Given the description of an element on the screen output the (x, y) to click on. 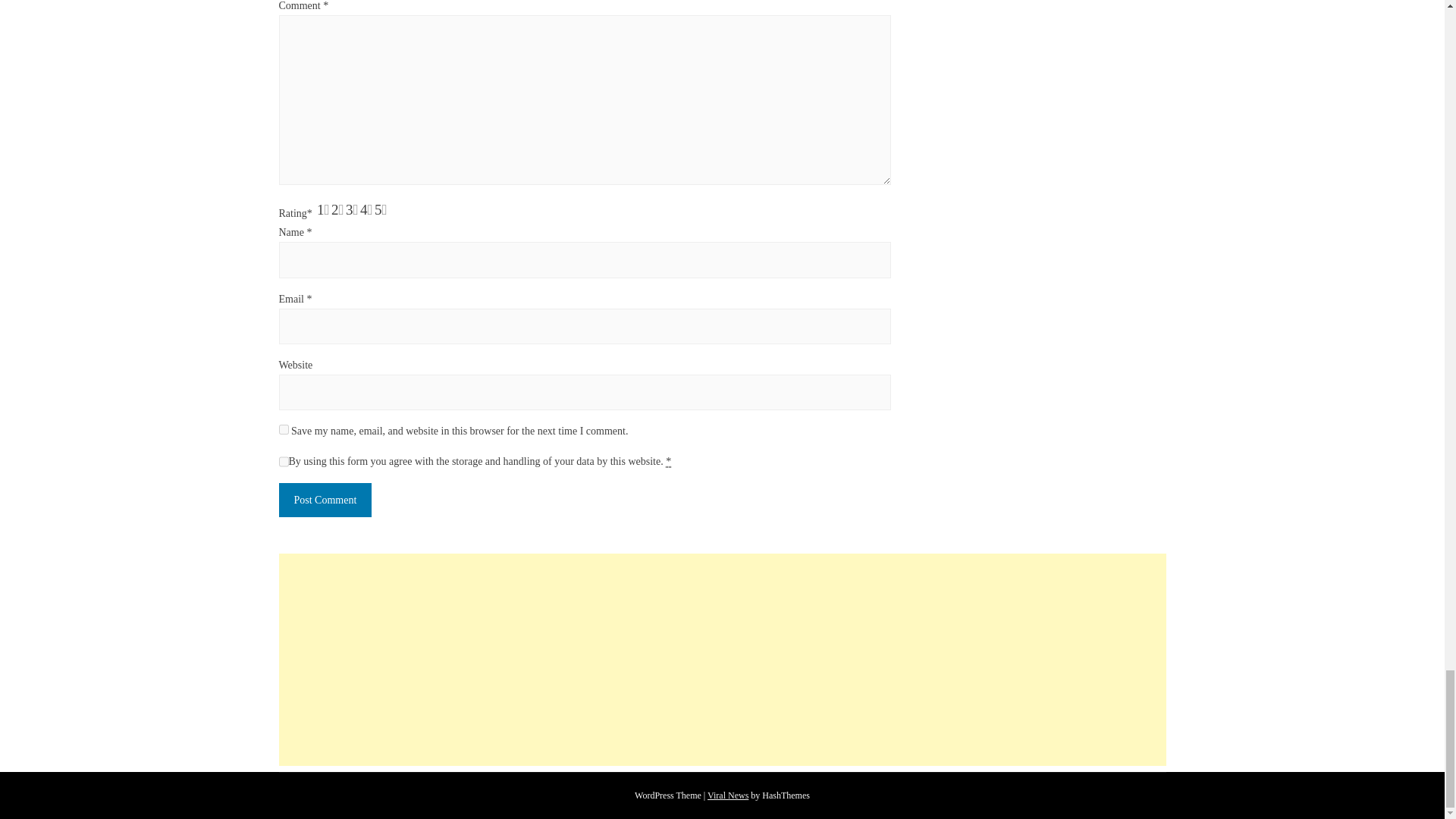
yes (283, 429)
Download Viral News (727, 795)
Post Comment (325, 499)
